Given the description of an element on the screen output the (x, y) to click on. 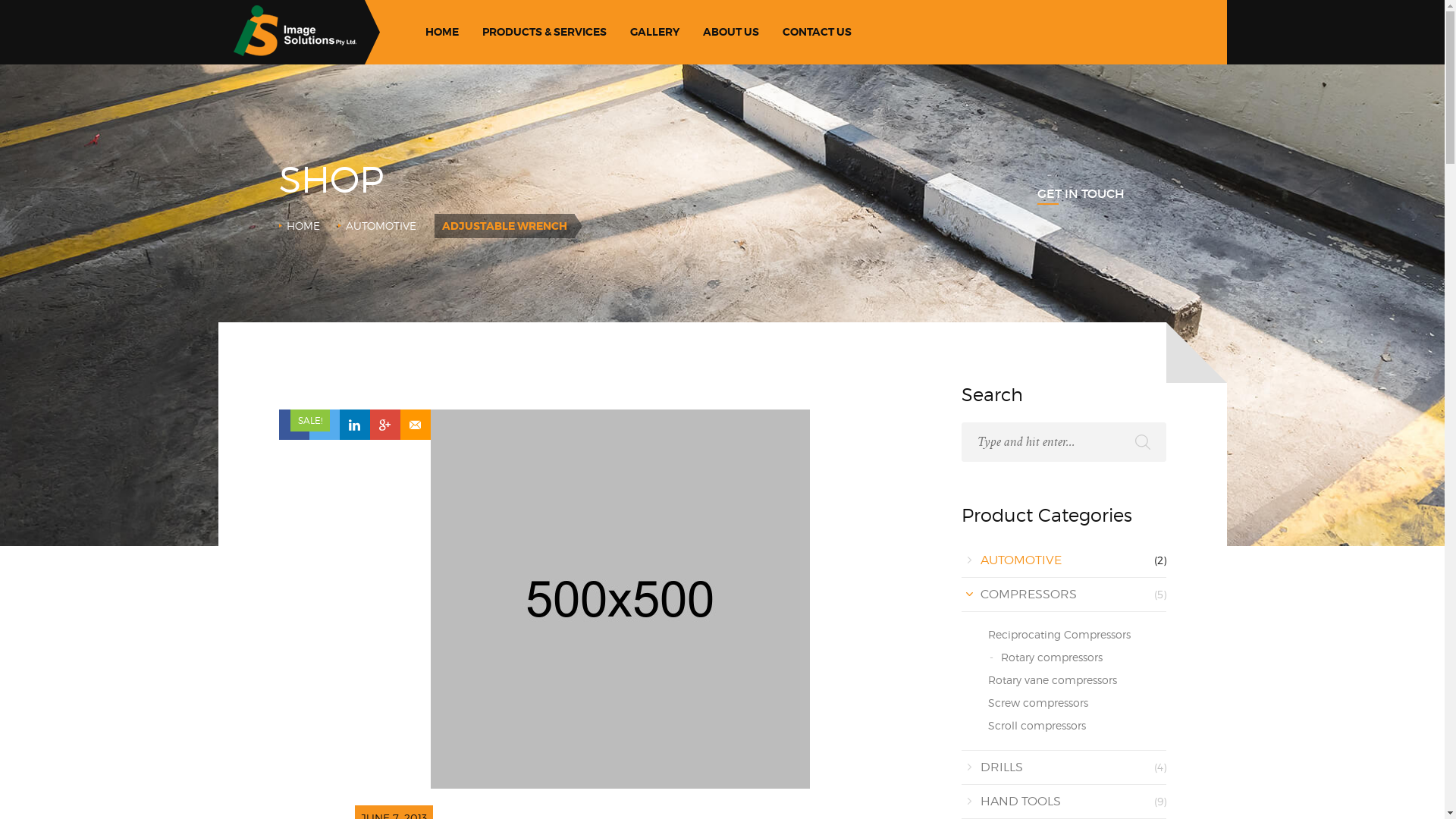
Rotary compressors Element type: text (1051, 656)
PRODUCTS & SERVICES Element type: text (544, 32)
Reciprocating Compressors Element type: text (1058, 633)
Share on Google Plus Element type: hover (385, 424)
CONTACT US Element type: text (817, 32)
Share on LinkedIn Element type: hover (354, 424)
Share on Twitter Element type: hover (324, 424)
AUTOMOTIVE Element type: text (1019, 559)
AUTOMOTIVE Element type: text (380, 225)
Rotary vane compressors Element type: text (1051, 679)
GALLERY Element type: text (654, 32)
COMPRESSORS Element type: text (1027, 593)
HOME Element type: text (303, 225)
Share by Email Element type: hover (415, 424)
HOME Element type: text (441, 32)
ABOUT US Element type: text (730, 32)
HAND TOOLS Element type: text (1019, 800)
Scroll compressors Element type: text (1036, 724)
Screw compressors Element type: text (1037, 702)
Share on Facebook Element type: hover (294, 424)
DRILLS Element type: text (1000, 766)
GET IN TOUCH Element type: text (1080, 193)
